Given the description of an element on the screen output the (x, y) to click on. 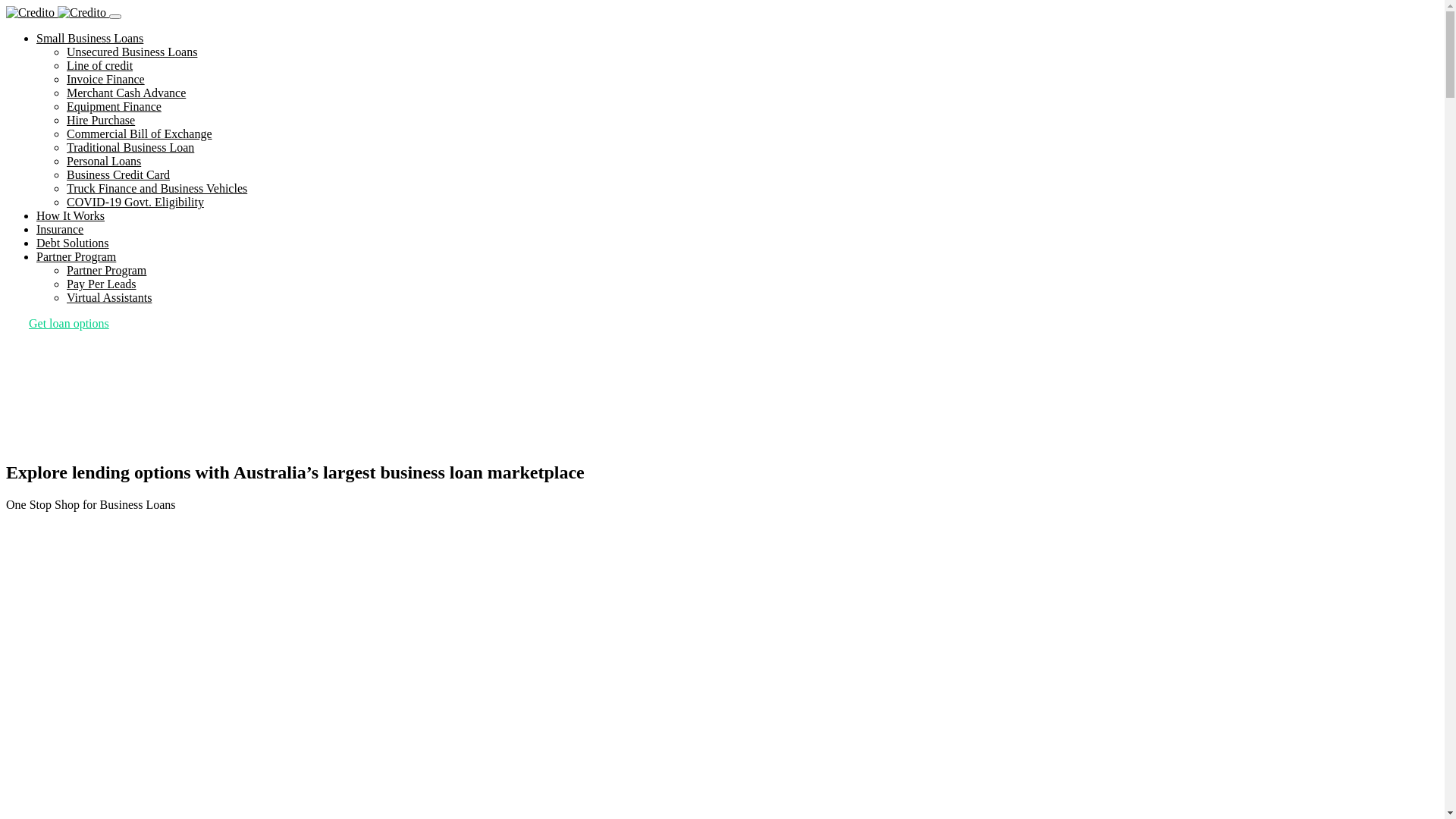
Personal Loans Element type: text (103, 160)
Equipment Finance Element type: text (113, 106)
Partner Program Element type: text (106, 269)
Truck Finance and Business Vehicles Element type: text (156, 188)
Unsecured Business Loans Element type: text (131, 51)
Pay Per Leads Element type: text (101, 283)
Line of credit Element type: text (99, 65)
Merchant Cash Advance Element type: text (125, 92)
Insurance Element type: text (59, 228)
Debt Solutions Element type: text (72, 242)
Traditional Business Loan Element type: text (130, 147)
How It Works Element type: text (70, 215)
COVID-19 Govt. Eligibility Element type: text (134, 201)
Business Credit Card Element type: text (117, 174)
Hire Purchase Element type: text (100, 119)
Invoice Finance Element type: text (105, 78)
Get loan options Element type: text (68, 322)
Small Business Loans Element type: text (89, 37)
Partner Program Element type: text (76, 256)
Virtual Assistants Element type: text (108, 297)
Commercial Bill of Exchange Element type: text (139, 133)
